Given the description of an element on the screen output the (x, y) to click on. 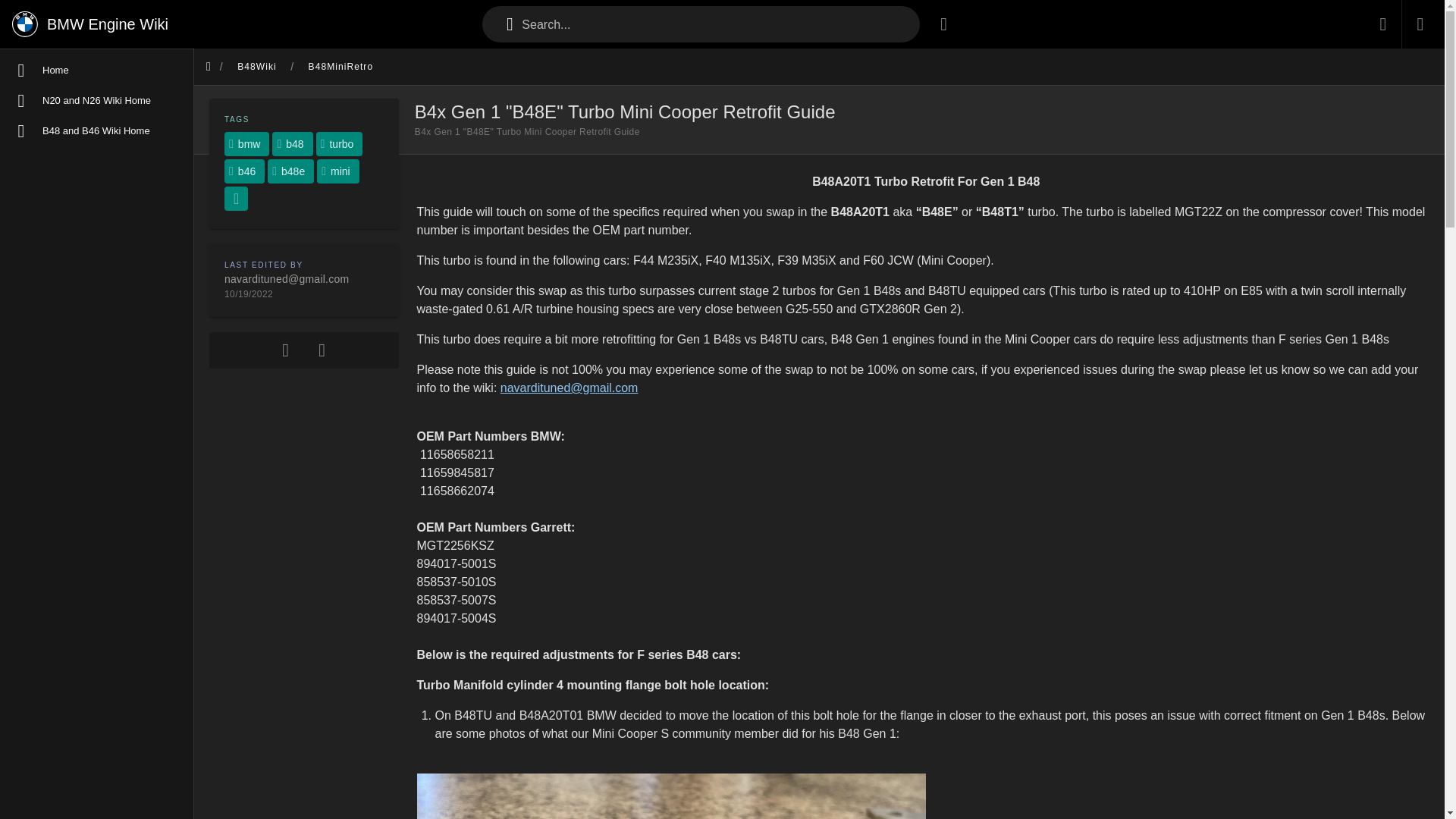
b48 (292, 143)
Home (96, 70)
B48MiniRetro (340, 66)
bmw (246, 143)
b46 (244, 170)
b48e (290, 170)
B48Wiki (256, 66)
turbo (338, 143)
N20 and N26 Wiki Home (96, 100)
B48 and B46 Wiki Home (96, 131)
mini (338, 170)
